Given the description of an element on the screen output the (x, y) to click on. 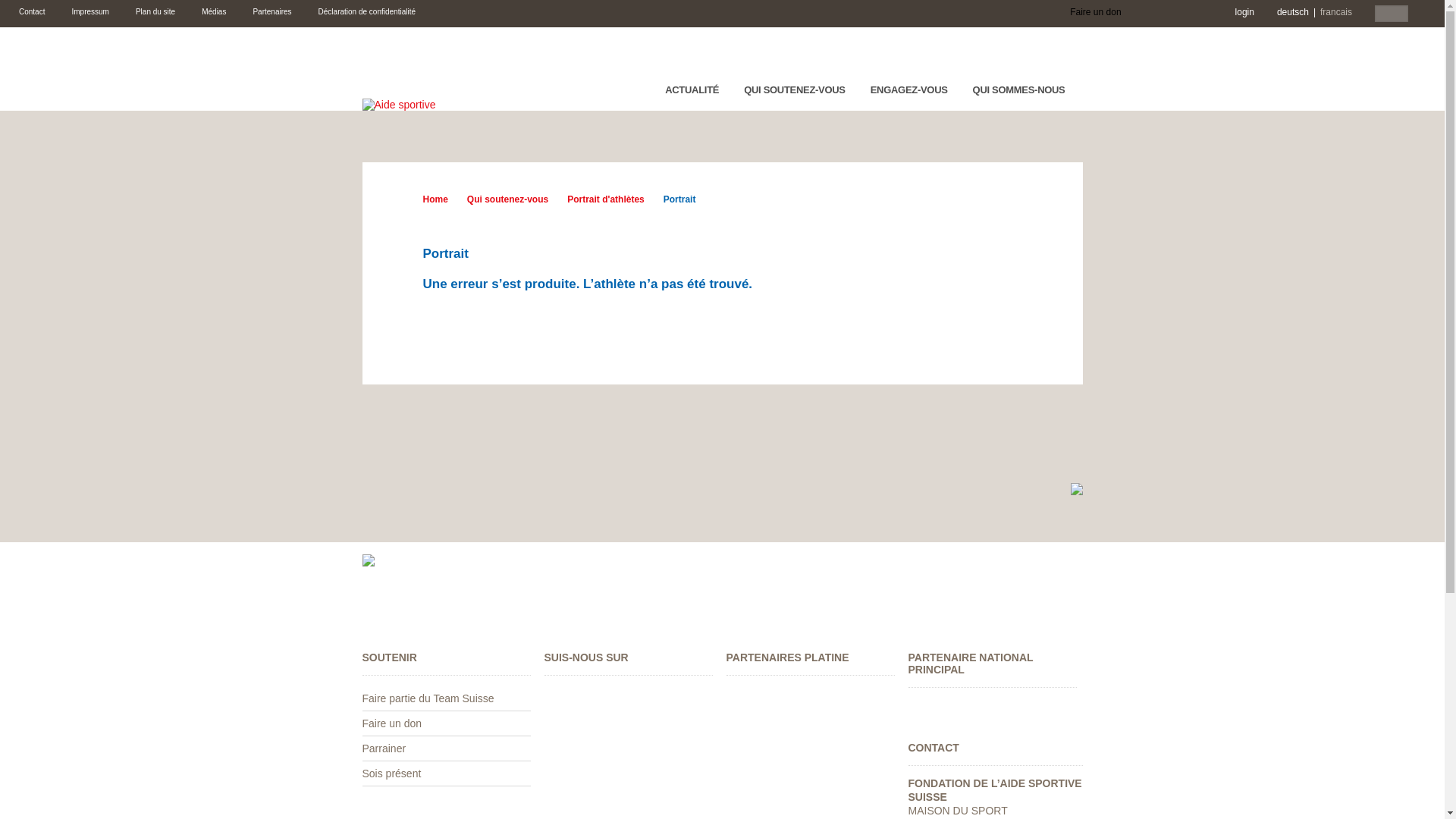
ENGAGEZ-VOUS Element type: text (913, 94)
QUI SOMMES-NOUS Element type: text (1023, 94)
Qui soutenez-vous Element type: text (498, 199)
Partenaires Element type: text (271, 11)
Facebook Element type: hover (1212, 13)
Contact Element type: text (31, 11)
Home Element type: text (435, 199)
Youtube Element type: hover (1191, 13)
QUI SOUTENEZ-VOUS Element type: text (799, 94)
Parrainer Element type: text (384, 748)
Impressum Element type: text (89, 11)
francais Element type: text (1336, 11)
deutsch Element type: text (1292, 11)
Homepage Element type: hover (399, 103)
Faire partie du Team Suisse Element type: text (428, 698)
Faire un don Element type: text (1087, 13)
Plan du site Element type: text (155, 11)
Twitter Element type: hover (1171, 13)
login Element type: text (1244, 11)
Faire un don Element type: text (392, 723)
